Given the description of an element on the screen output the (x, y) to click on. 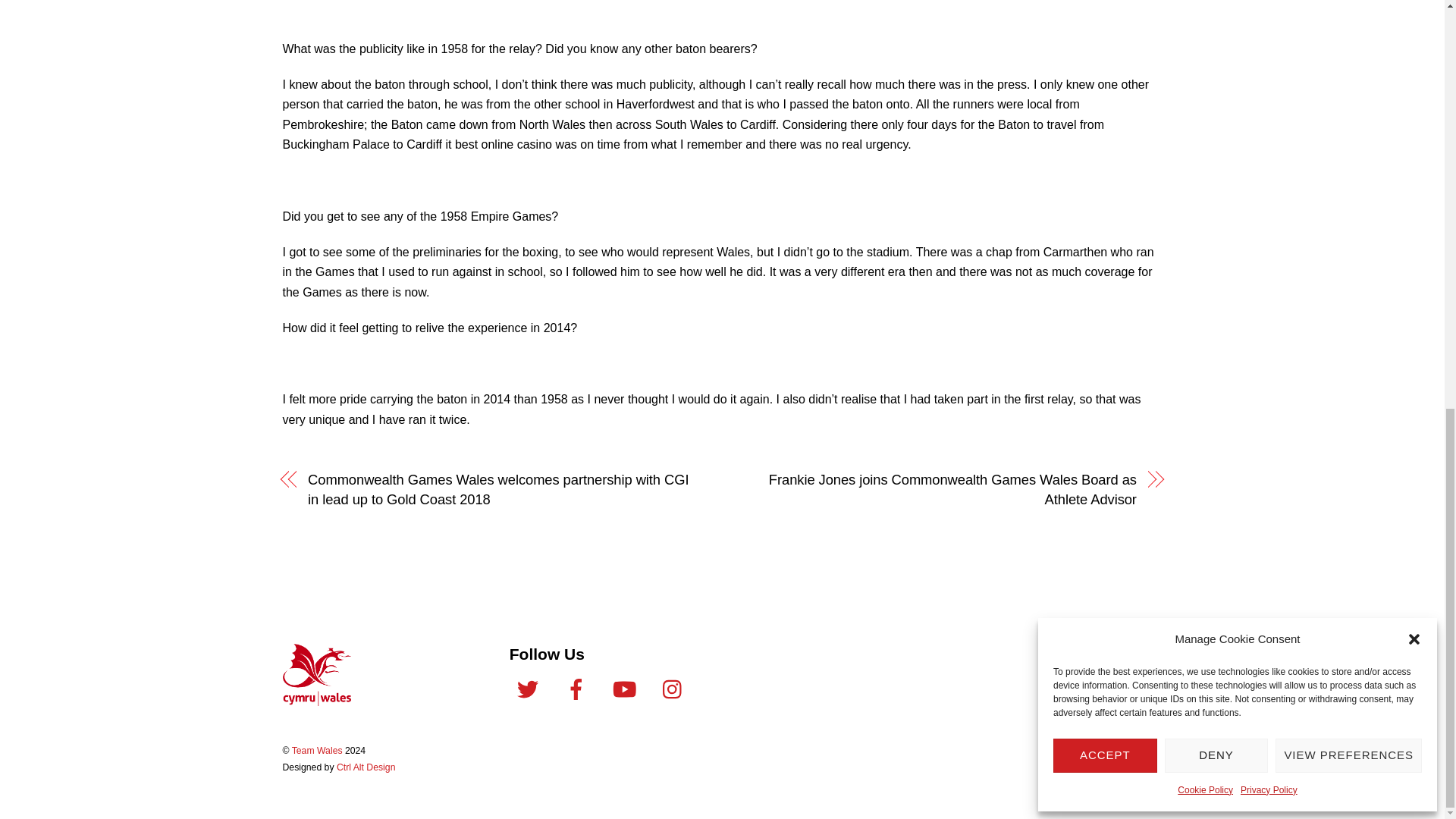
Team Wales (316, 700)
